Given the description of an element on the screen output the (x, y) to click on. 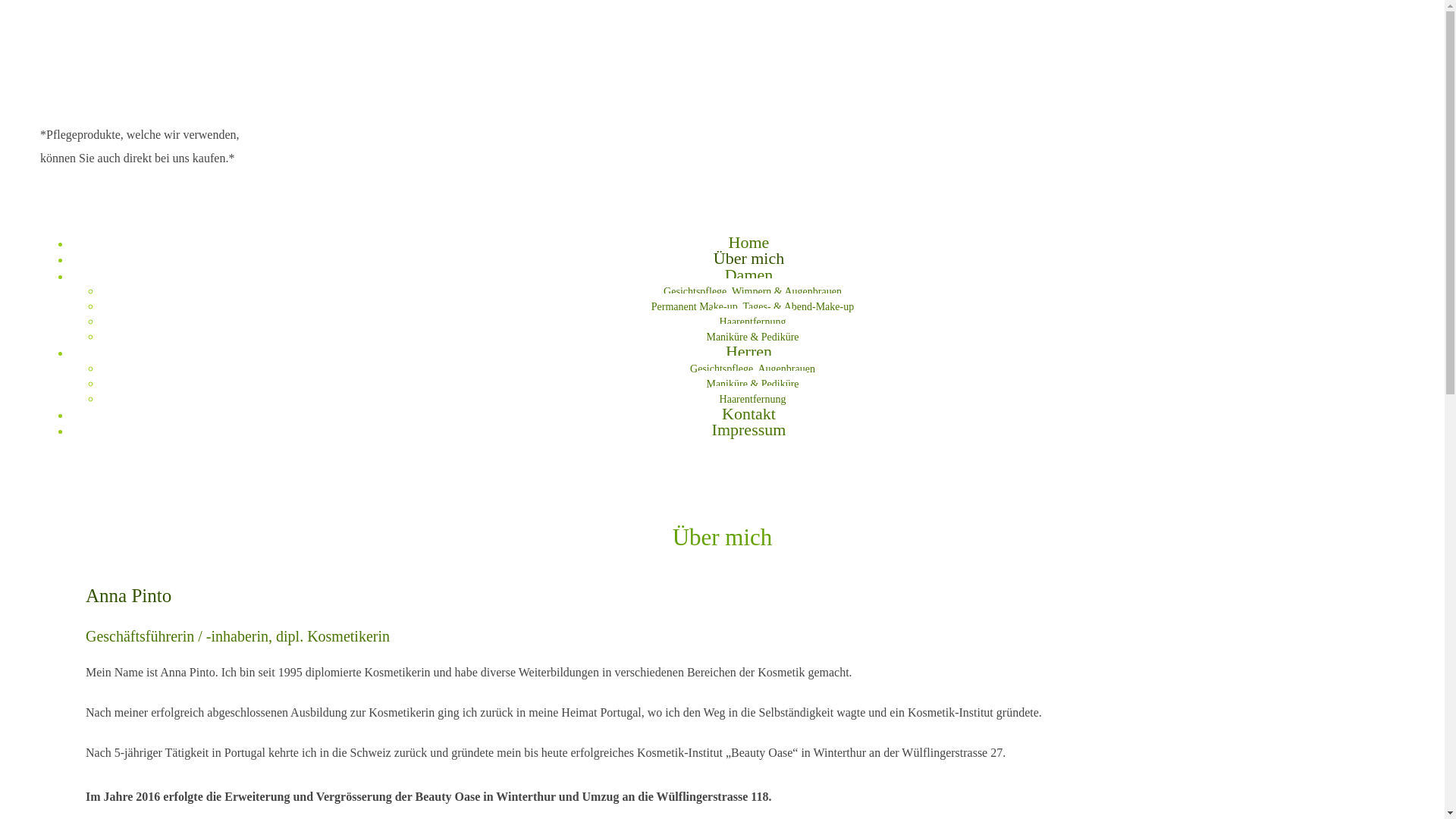
Herren Element type: text (748, 351)
Haarentfernung Element type: text (752, 321)
Damen Element type: text (748, 274)
Home Element type: text (748, 242)
Kontakt Element type: text (748, 413)
Permanent Make-up, Tages- & Abend-Make-up Element type: text (752, 306)
Impressum Element type: text (749, 429)
Haarentfernung Element type: text (752, 398)
Gesichtspflege, Augenbrauen Element type: text (752, 368)
Gesichtspflege, Wimpern & Augenbrauen Element type: text (752, 291)
